Given the description of an element on the screen output the (x, y) to click on. 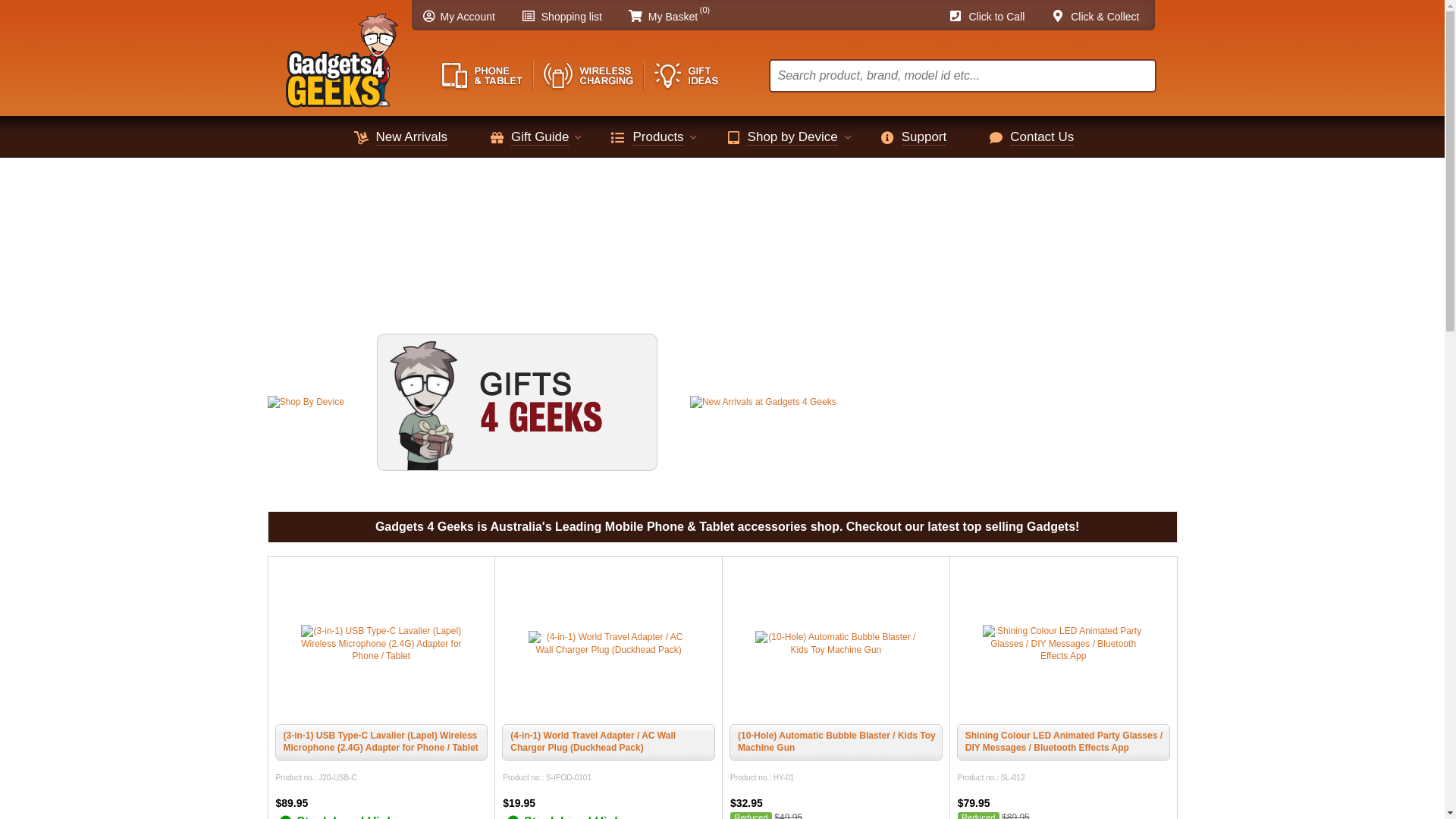
Products Element type: text (662, 136)
My Account Element type: text (465, 17)
Support Element type: text (927, 136)
Shopping list Element type: text (569, 17)
Gift Guide Element type: text (544, 136)
Go to product Element type: hover (835, 644)
My Basket Element type: text (670, 17)
Shop By Device Element type: hover (304, 401)
Start search Element type: hover (1140, 79)
New Arrivals Element type: text (415, 136)
Gifts for Geeks Element type: hover (516, 401)
Go to product Element type: hover (1062, 644)
Go to product Element type: hover (608, 644)
Click to Call Element type: text (993, 17)
Contact Us Element type: text (1045, 136)
New Arrivals at Gadgets 4 Geeks Element type: hover (763, 401)
Shop by Device Element type: text (796, 136)
Gadgets 4 Geeks logo Element type: hover (341, 56)
Click & Collect Element type: text (1102, 17)
Go to product Element type: hover (381, 644)
(10-Hole) Automatic Bubble Blaster / Kids Toy Machine Gun Element type: text (836, 742)
App Element type: hover (342, 243)
